Given the description of an element on the screen output the (x, y) to click on. 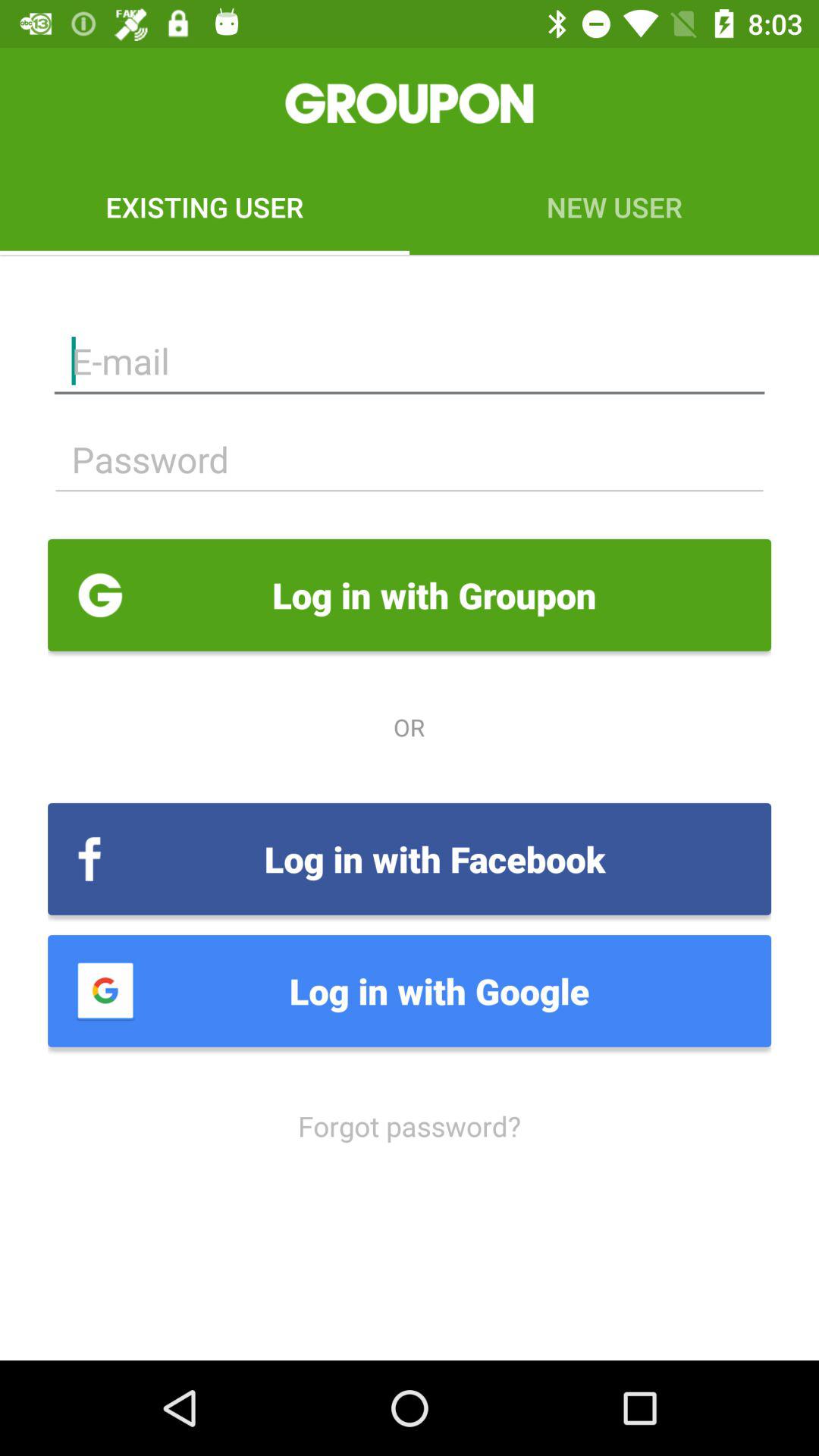
enter your email (409, 361)
